Given the description of an element on the screen output the (x, y) to click on. 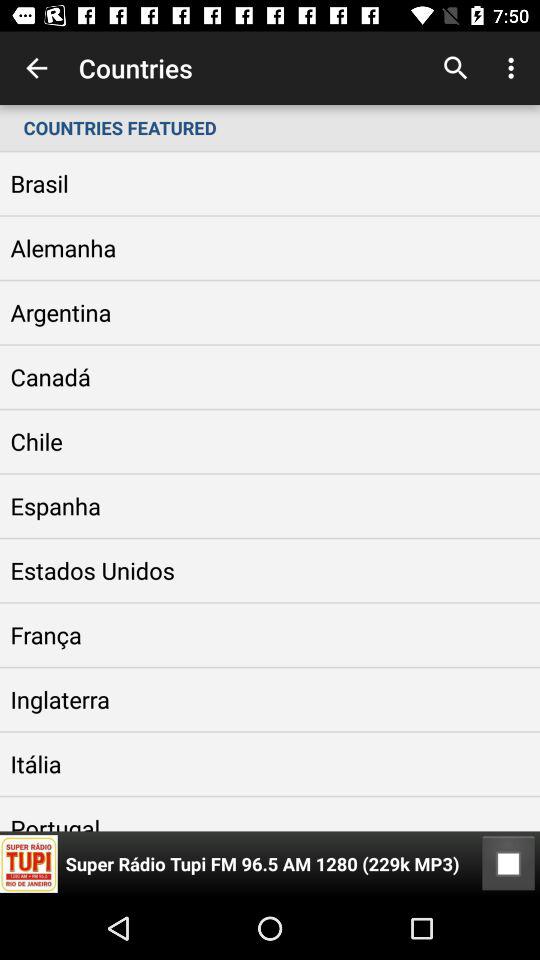
choose app to the left of the countries app (36, 68)
